Given the description of an element on the screen output the (x, y) to click on. 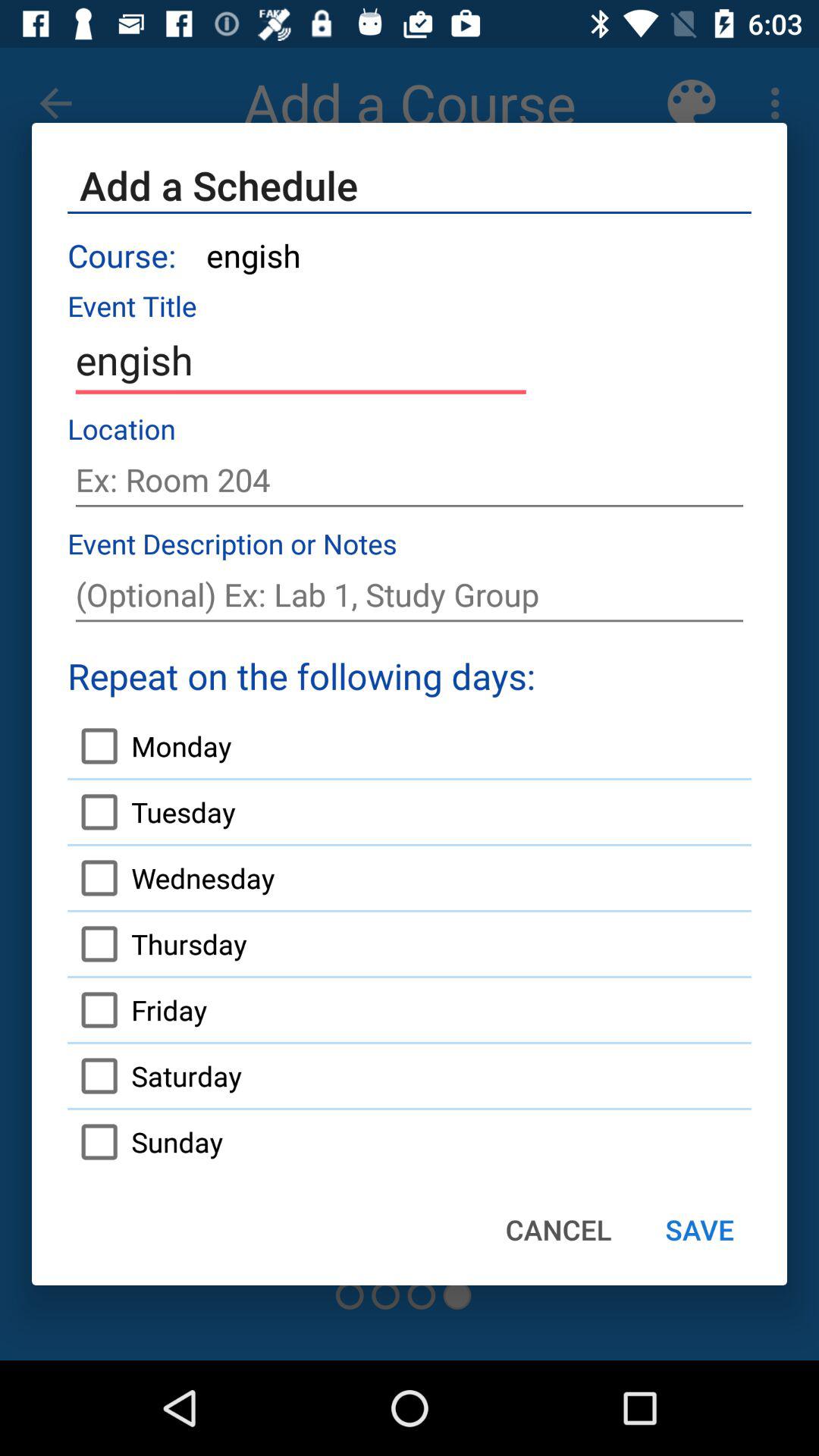
choose the tuesday item (151, 812)
